Given the description of an element on the screen output the (x, y) to click on. 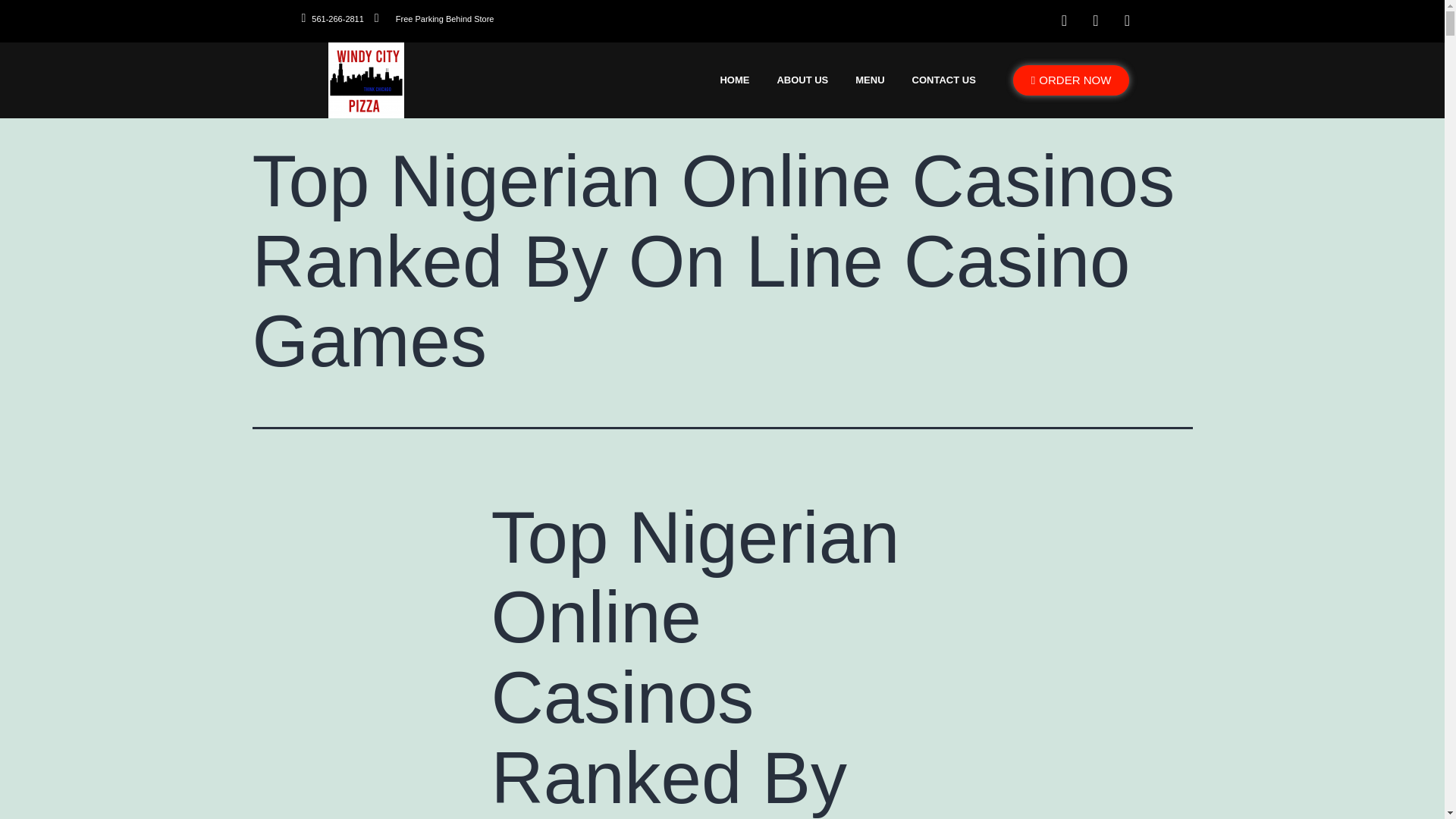
ORDER NOW (1071, 80)
561-266-2811 (332, 19)
HOME (734, 80)
CONTACT US (944, 80)
ABOUT US (802, 80)
MENU (870, 80)
